Given the description of an element on the screen output the (x, y) to click on. 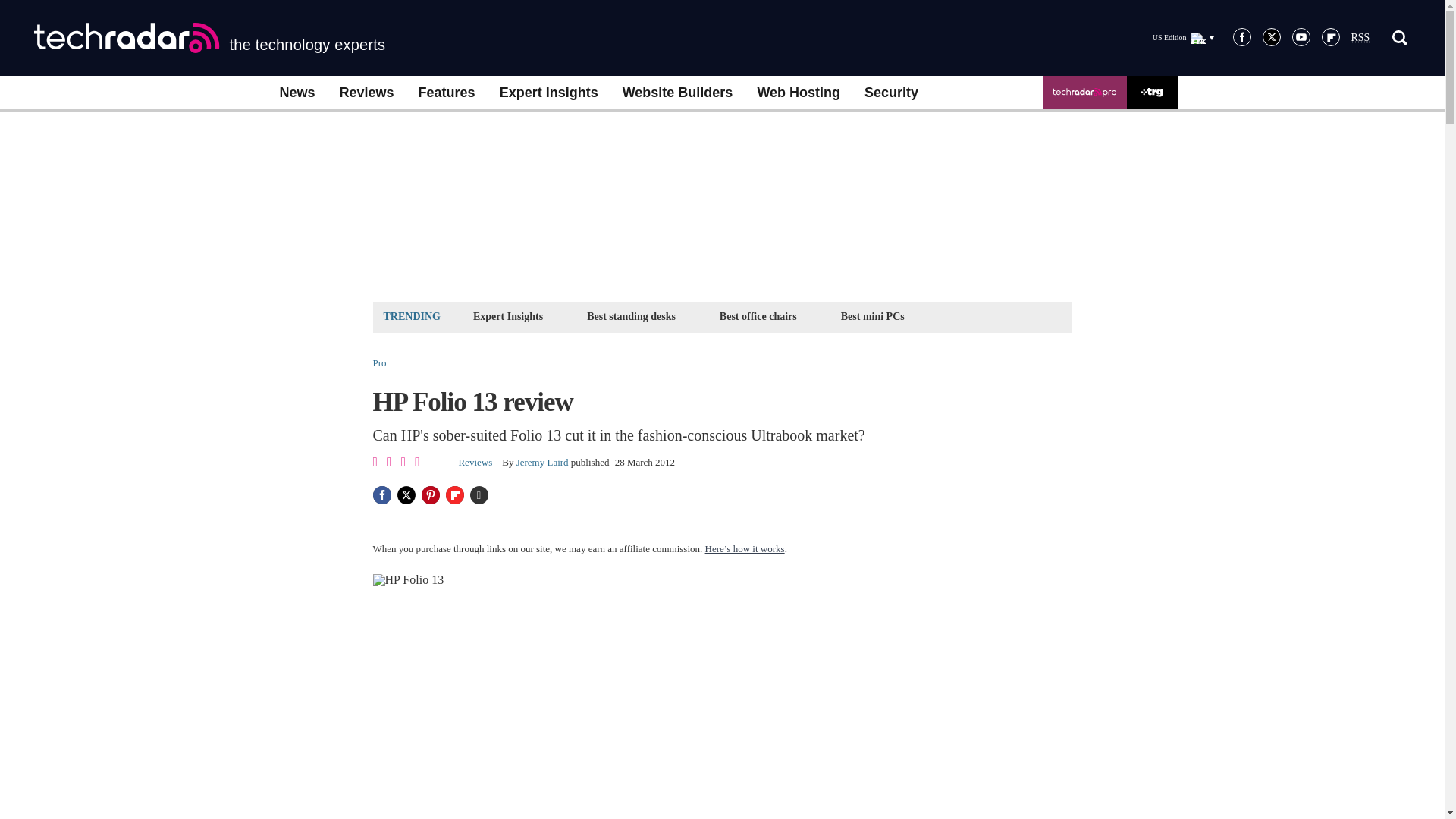
Best office chairs (758, 316)
Website Builders (677, 92)
News (296, 92)
Best standing desks (630, 316)
Really Simple Syndication (1360, 37)
US Edition (1182, 37)
Web Hosting (797, 92)
Expert Insights (548, 92)
Expert Insights (507, 316)
Reviews (366, 92)
